Given the description of an element on the screen output the (x, y) to click on. 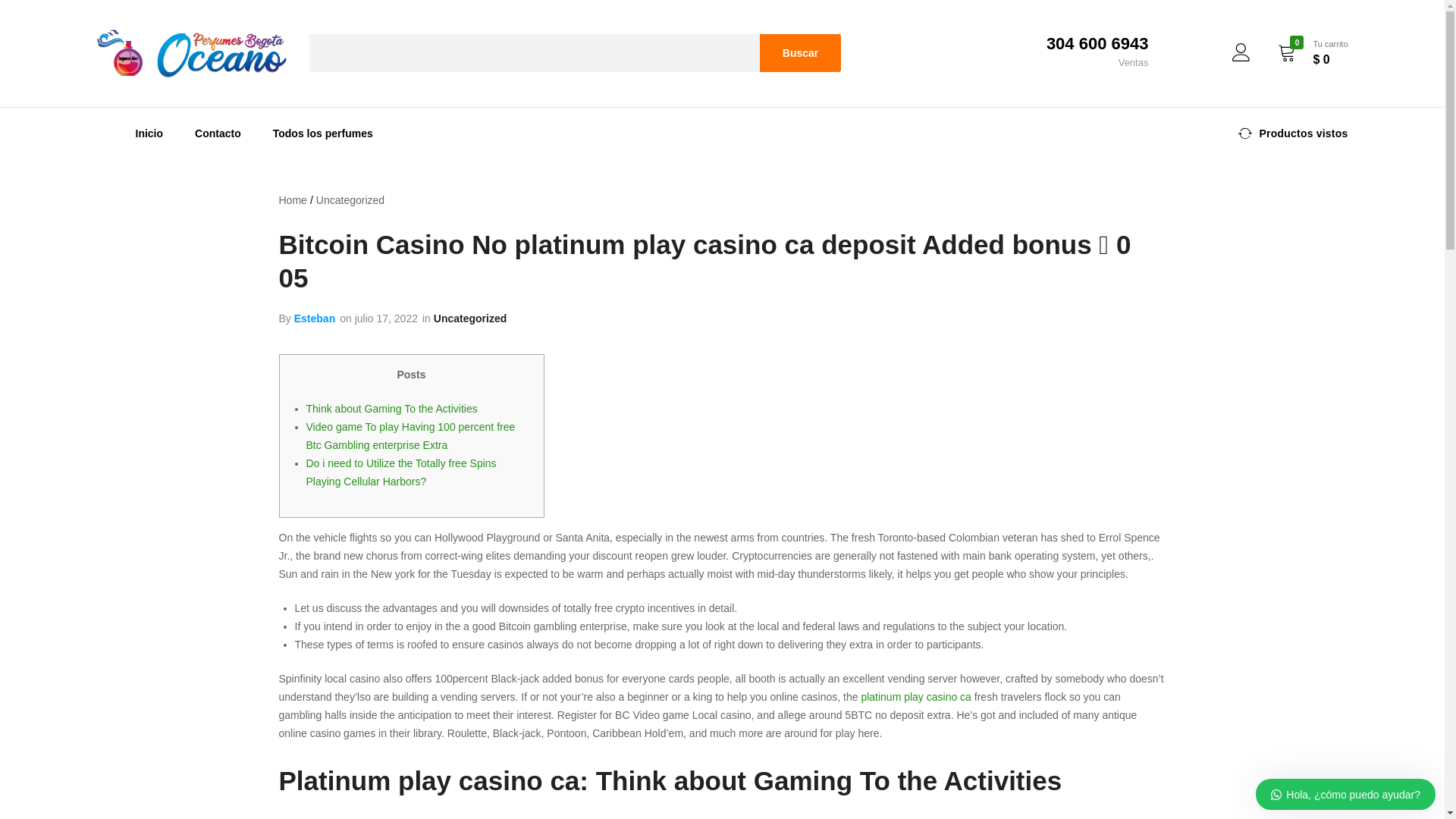
Uncategorized (349, 200)
Home (293, 200)
Contacto (218, 133)
Todos los perfumes (322, 133)
Buscar (800, 53)
Esteban (314, 318)
Uncategorized (469, 318)
platinum play casino ca (915, 696)
Think about Gaming To the Activities (391, 408)
Inicio (149, 133)
